Given the description of an element on the screen output the (x, y) to click on. 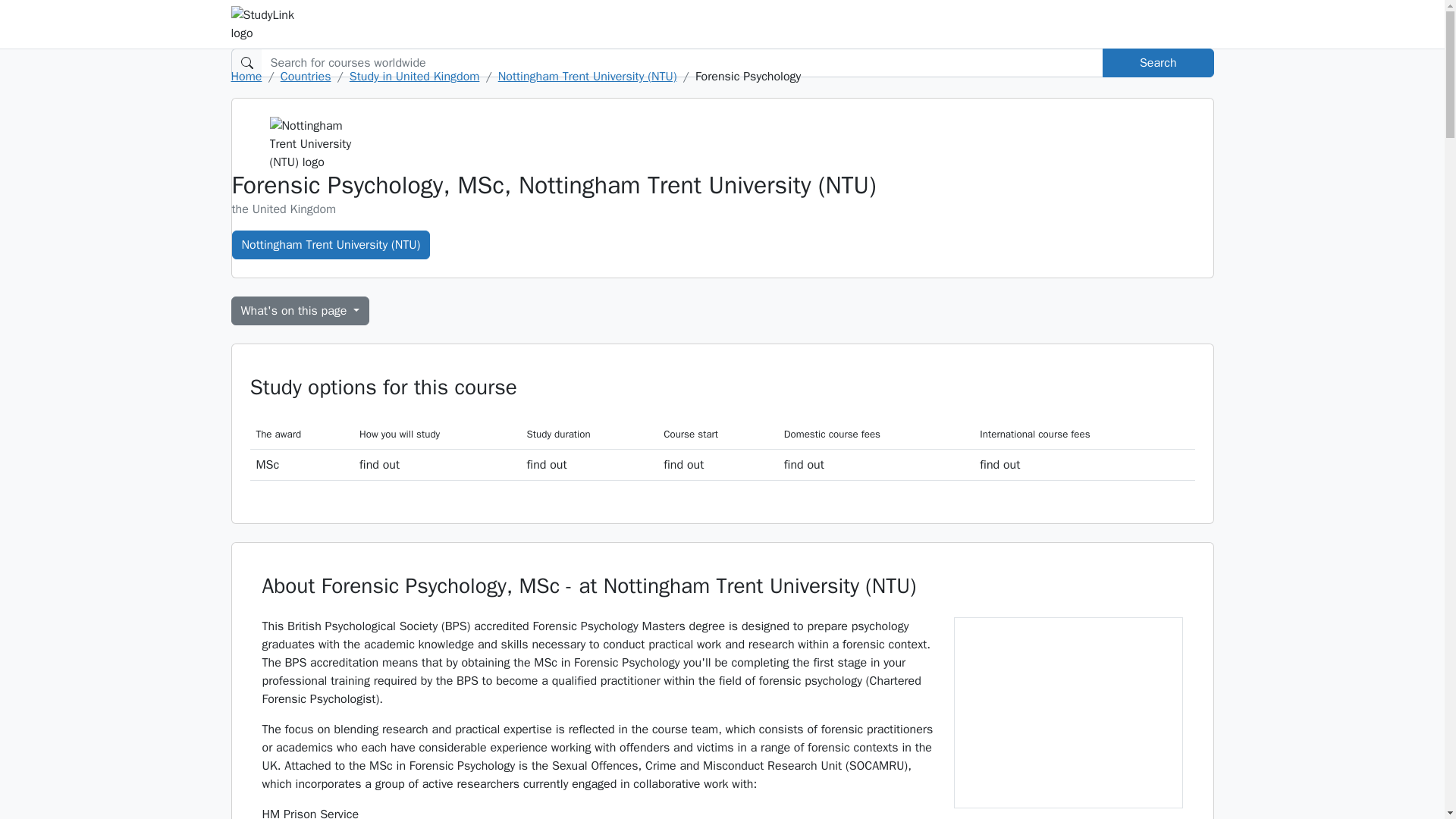
Visit the provider website to learn more (437, 463)
Visit the provider website to learn more (875, 463)
Visit the provider website to learn more (1083, 463)
Visit the provider website to learn more (589, 463)
Visit the provider website to learn more (717, 463)
